Given the description of an element on the screen output the (x, y) to click on. 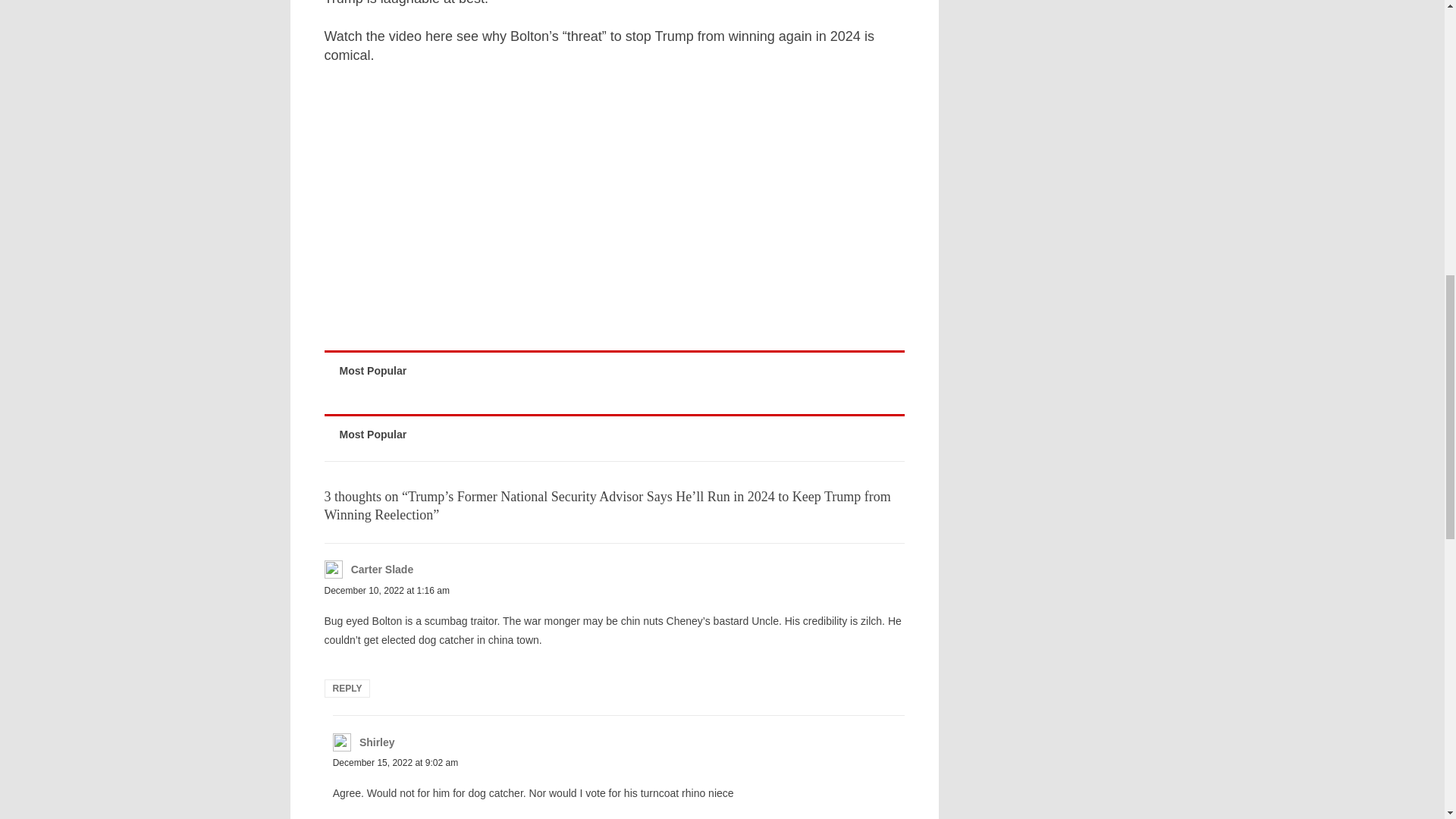
REPLY (347, 688)
December 15, 2022 at 9:02 am (395, 762)
YouTube video player (536, 203)
December 10, 2022 at 1:16 am (386, 590)
